Given the description of an element on the screen output the (x, y) to click on. 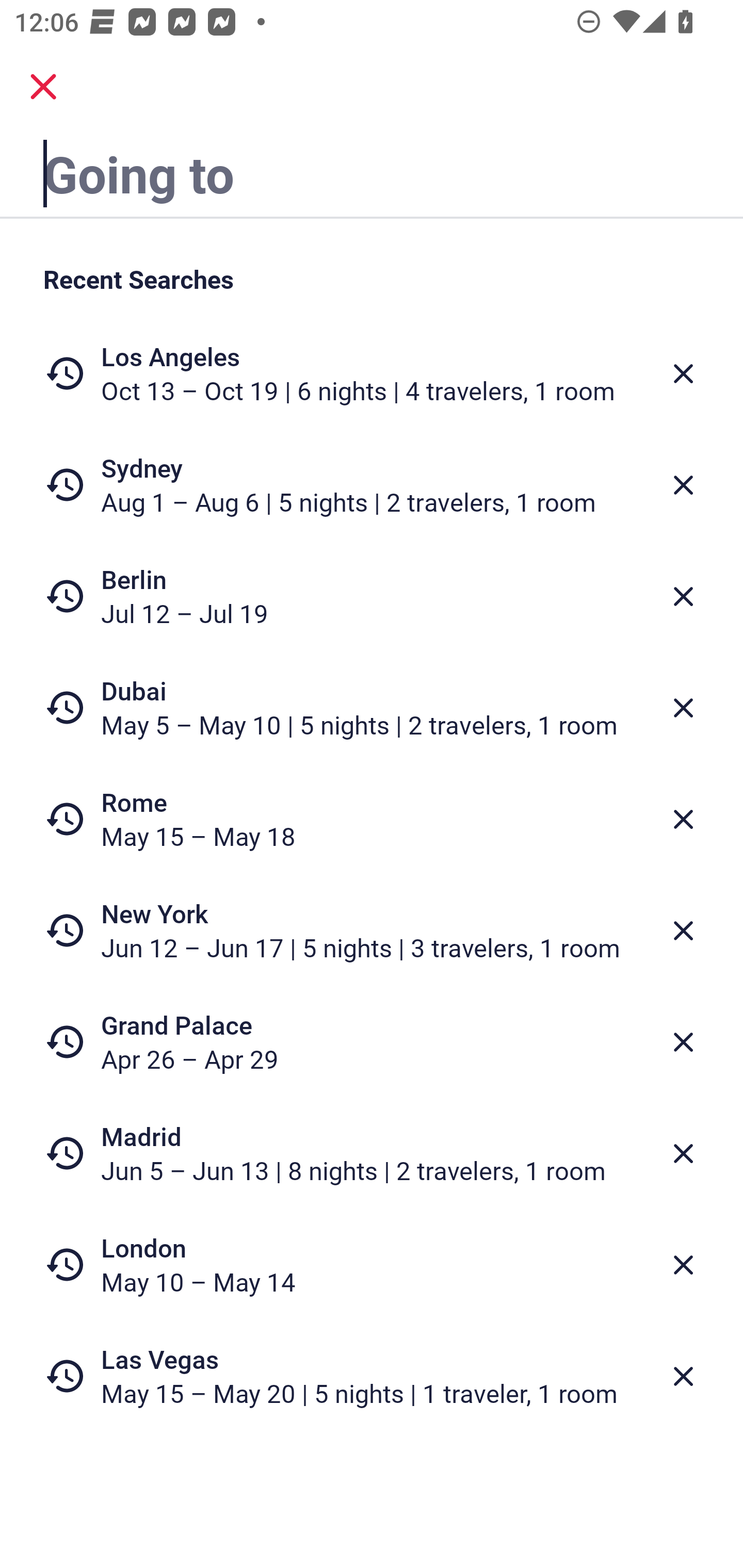
close. (43, 86)
Delete from recent searches (683, 373)
Delete from recent searches (683, 485)
Berlin Jul 12 – Jul 19 (371, 596)
Delete from recent searches (683, 596)
Delete from recent searches (683, 707)
Rome May 15 – May 18 (371, 818)
Delete from recent searches (683, 819)
Delete from recent searches (683, 930)
Grand Palace Apr 26 – Apr 29 (371, 1041)
Delete from recent searches (683, 1041)
Delete from recent searches (683, 1153)
London May 10 – May 14 (371, 1264)
Delete from recent searches (683, 1265)
Delete from recent searches (683, 1376)
